Given the description of an element on the screen output the (x, y) to click on. 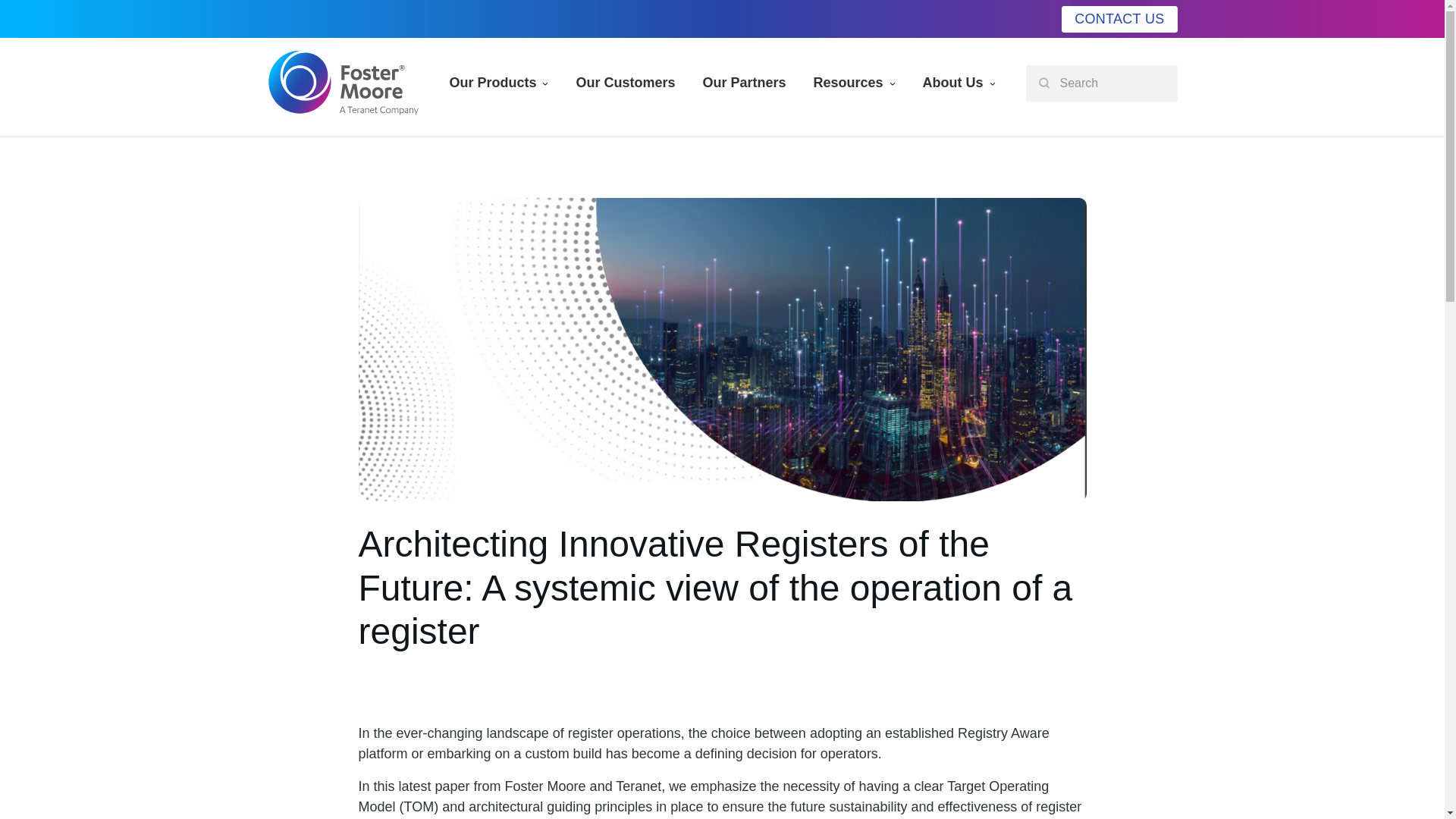
branding-new (342, 82)
Our Partners (743, 82)
CONTACT US (1118, 18)
Our Customers (625, 82)
